Given the description of an element on the screen output the (x, y) to click on. 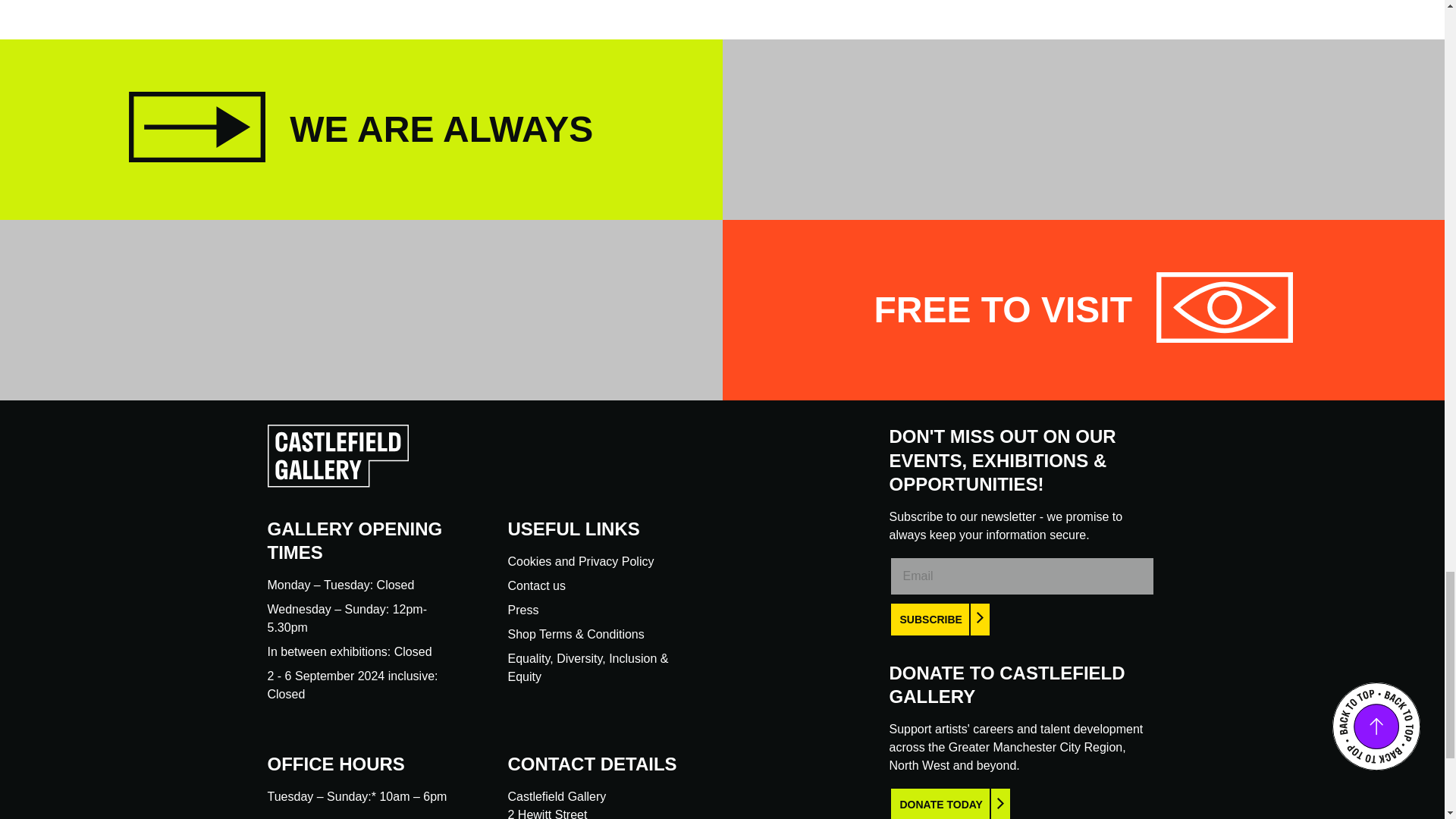
Press (523, 609)
Cookies and Privacy Policy (580, 561)
Click to go back home (336, 482)
Contact us (537, 585)
